Given the description of an element on the screen output the (x, y) to click on. 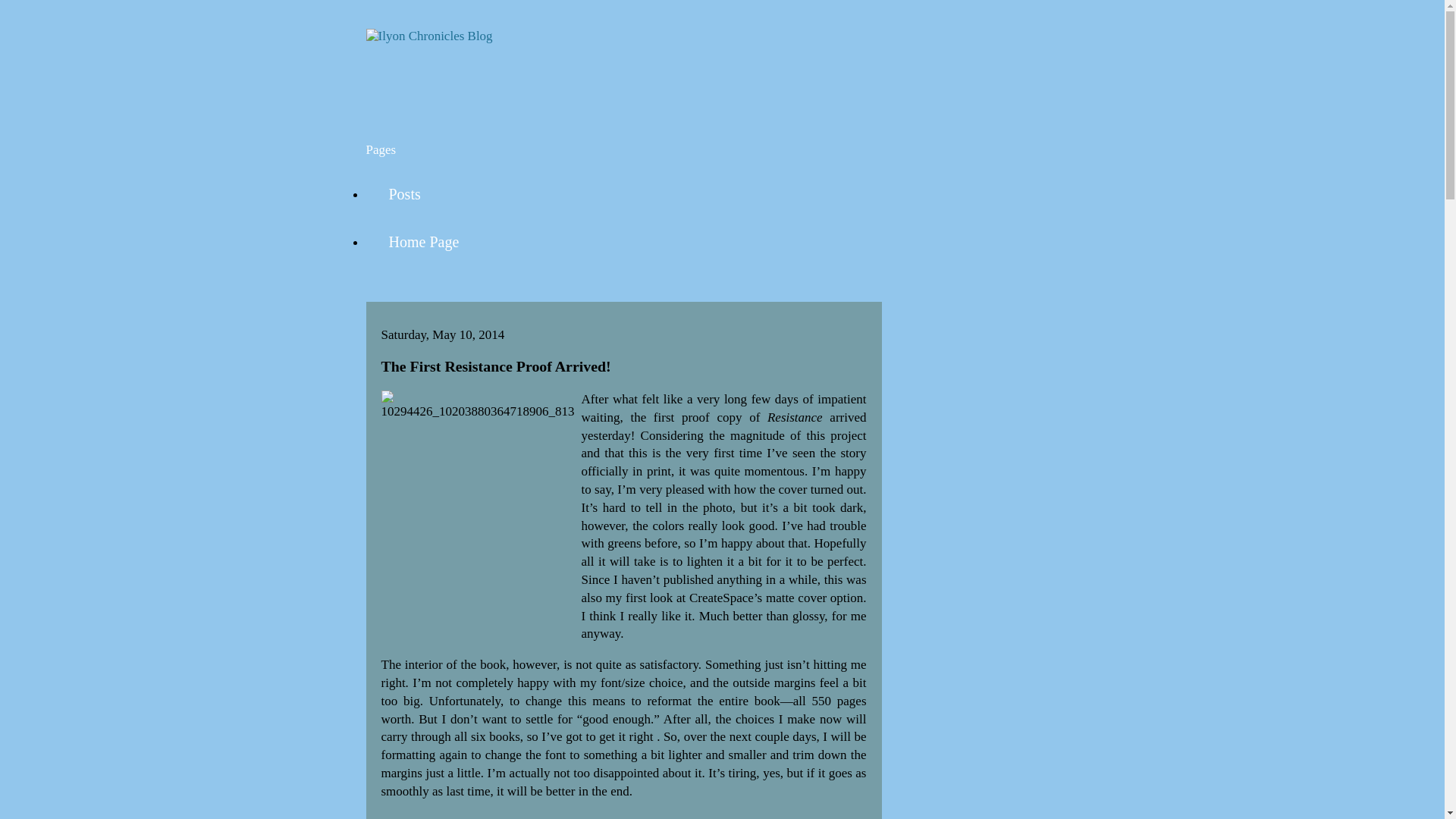
Home Page (423, 242)
Posts (403, 194)
